Given the description of an element on the screen output the (x, y) to click on. 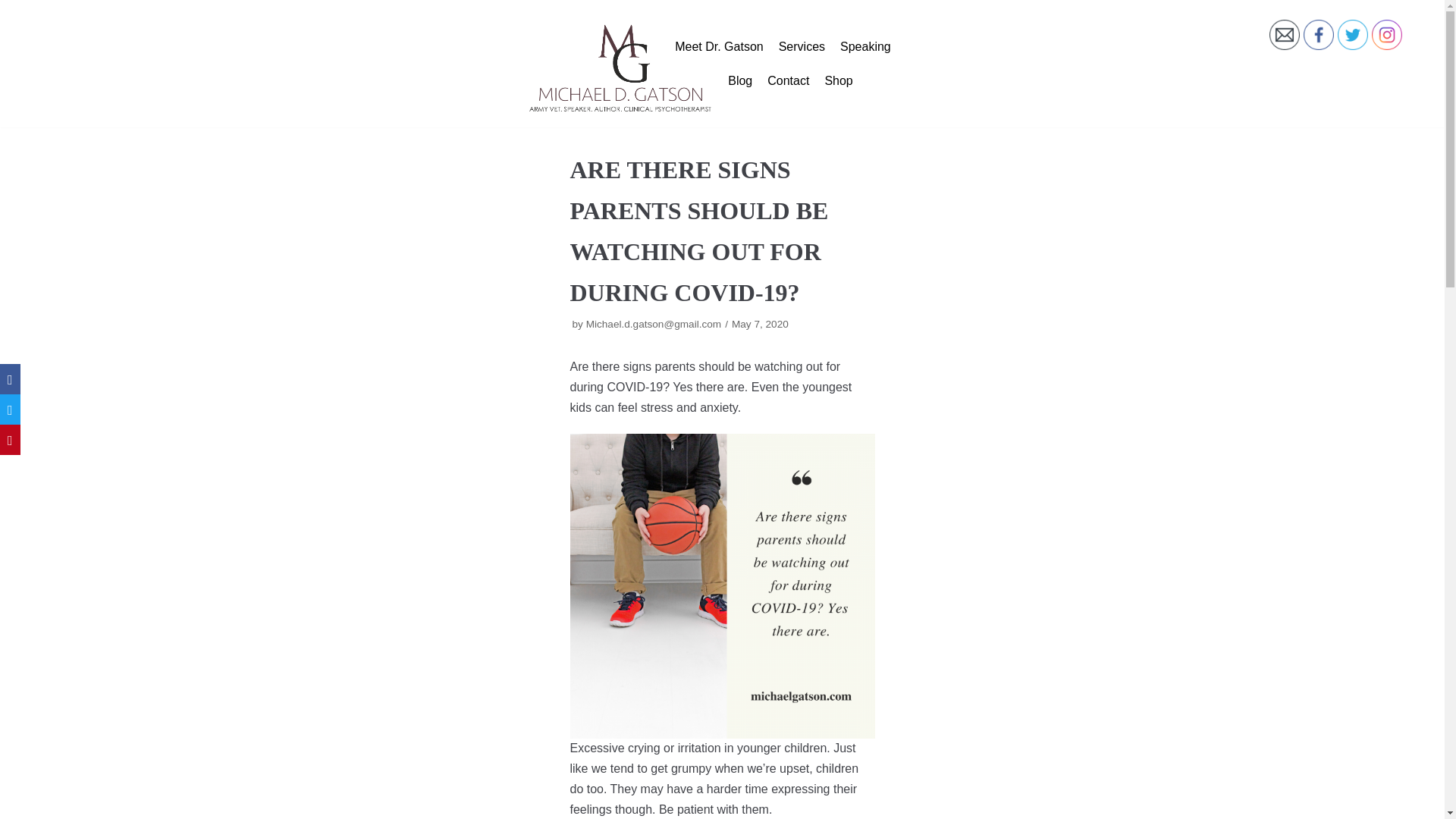
Contact (788, 80)
Twitter (1353, 34)
Instagram (1386, 34)
Meet Dr. Gatson (718, 46)
Skip to content (15, 7)
Follow by Email (1284, 34)
Blog (740, 80)
Speaking (865, 46)
Services (801, 46)
Facebook (1318, 34)
